Given the description of an element on the screen output the (x, y) to click on. 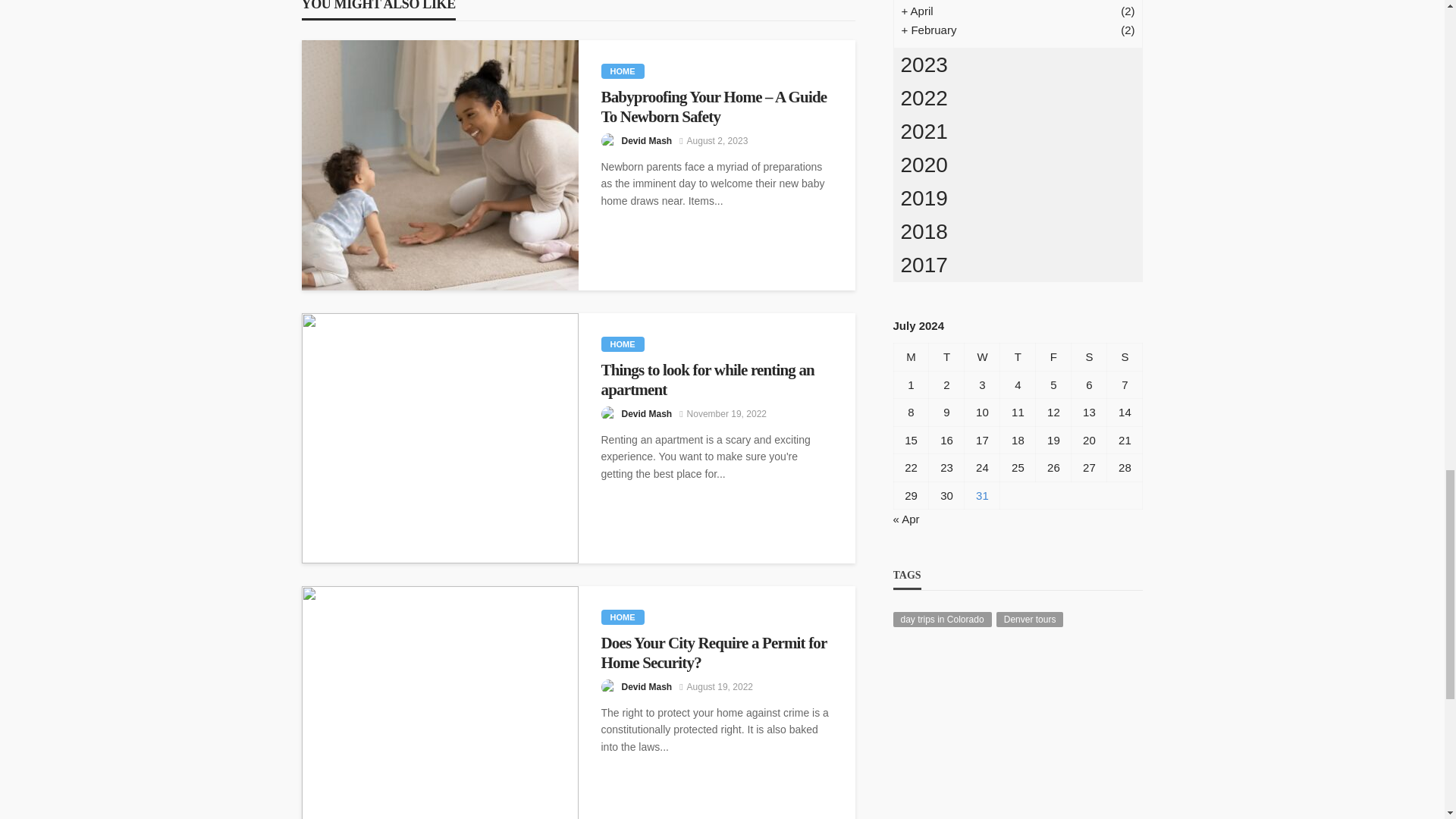
Home (621, 344)
Does Your City Require a Permit for Home Security? (439, 702)
Things to look for while renting an apartment (715, 380)
Things to look for while renting an apartment (439, 437)
Home (621, 616)
Home (621, 70)
